Given the description of an element on the screen output the (x, y) to click on. 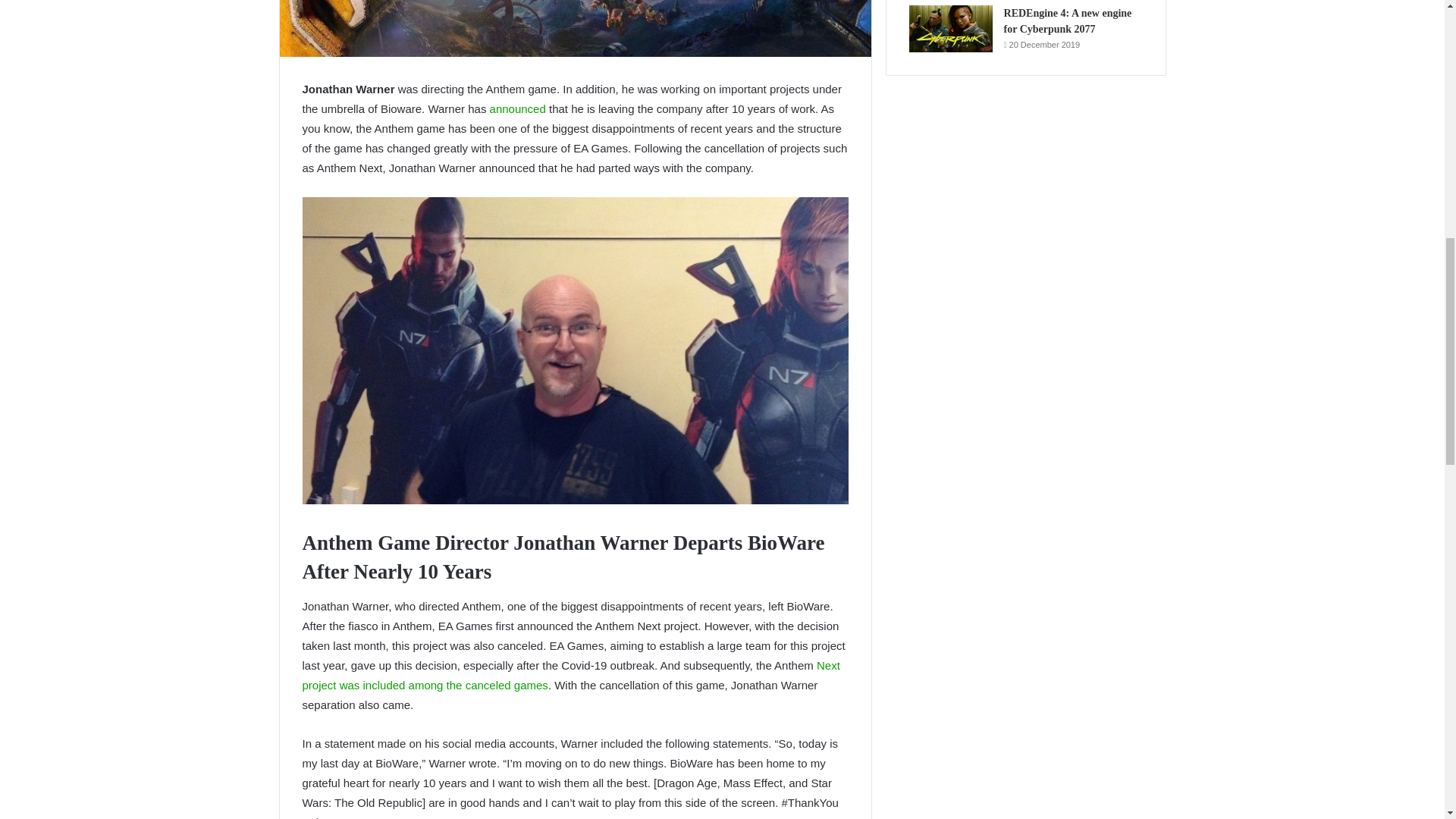
Jonathan Warner Departs Bioware After 10 Years 1 (574, 28)
Next project was included among the canceled games (570, 675)
announced (517, 108)
